Given the description of an element on the screen output the (x, y) to click on. 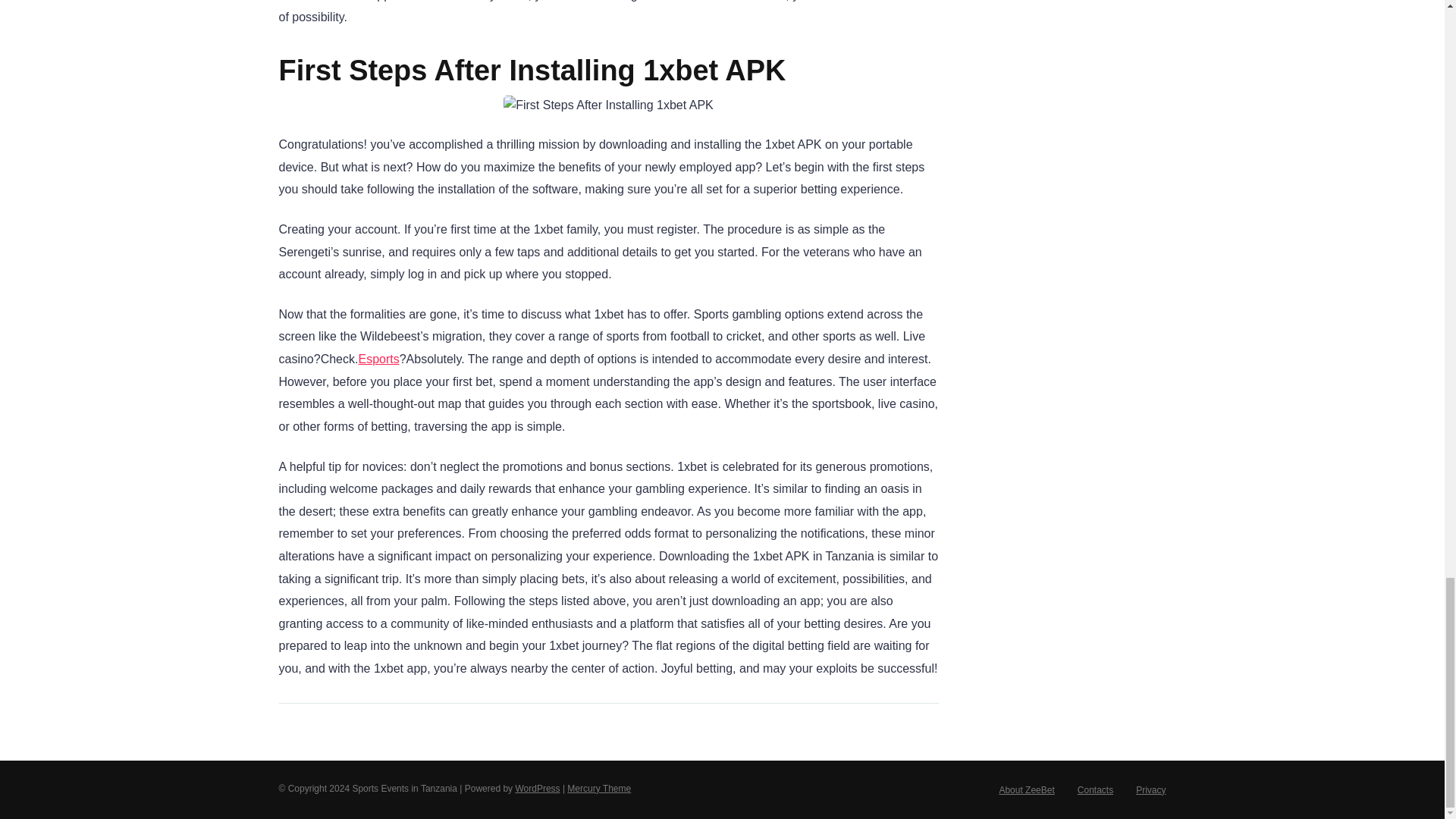
WordPress (537, 787)
Affiliate Marketing WordPress Theme. Reviews and Top Lists (598, 787)
Esports (378, 358)
WordPress (537, 787)
Mercury Theme (598, 787)
Privacy (1150, 789)
About ZeeBet (1026, 789)
Contacts (1095, 789)
